Given the description of an element on the screen output the (x, y) to click on. 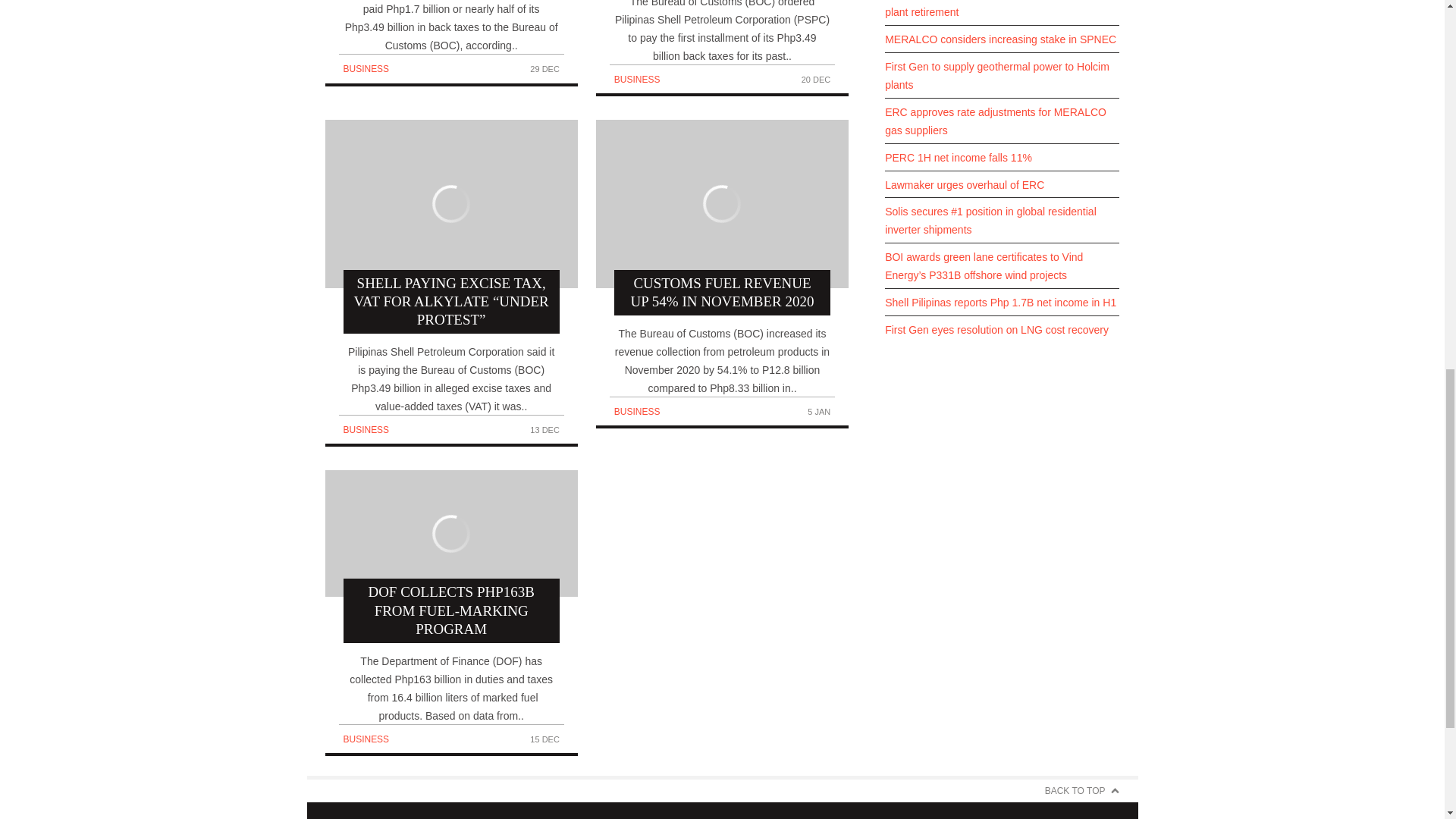
First Gen to supply geothermal power to Holcim plants (1002, 75)
View all posts in Business (637, 79)
MERALCO considers increasing stake in SPNEC (1002, 39)
View all posts in Business (365, 738)
View all posts in Business (365, 68)
Lawmaker urges overhaul of ERC (1002, 185)
View all posts in Business (365, 429)
BUSINESS (637, 411)
BUSINESS (365, 738)
View all posts in Business (637, 411)
